Given the description of an element on the screen output the (x, y) to click on. 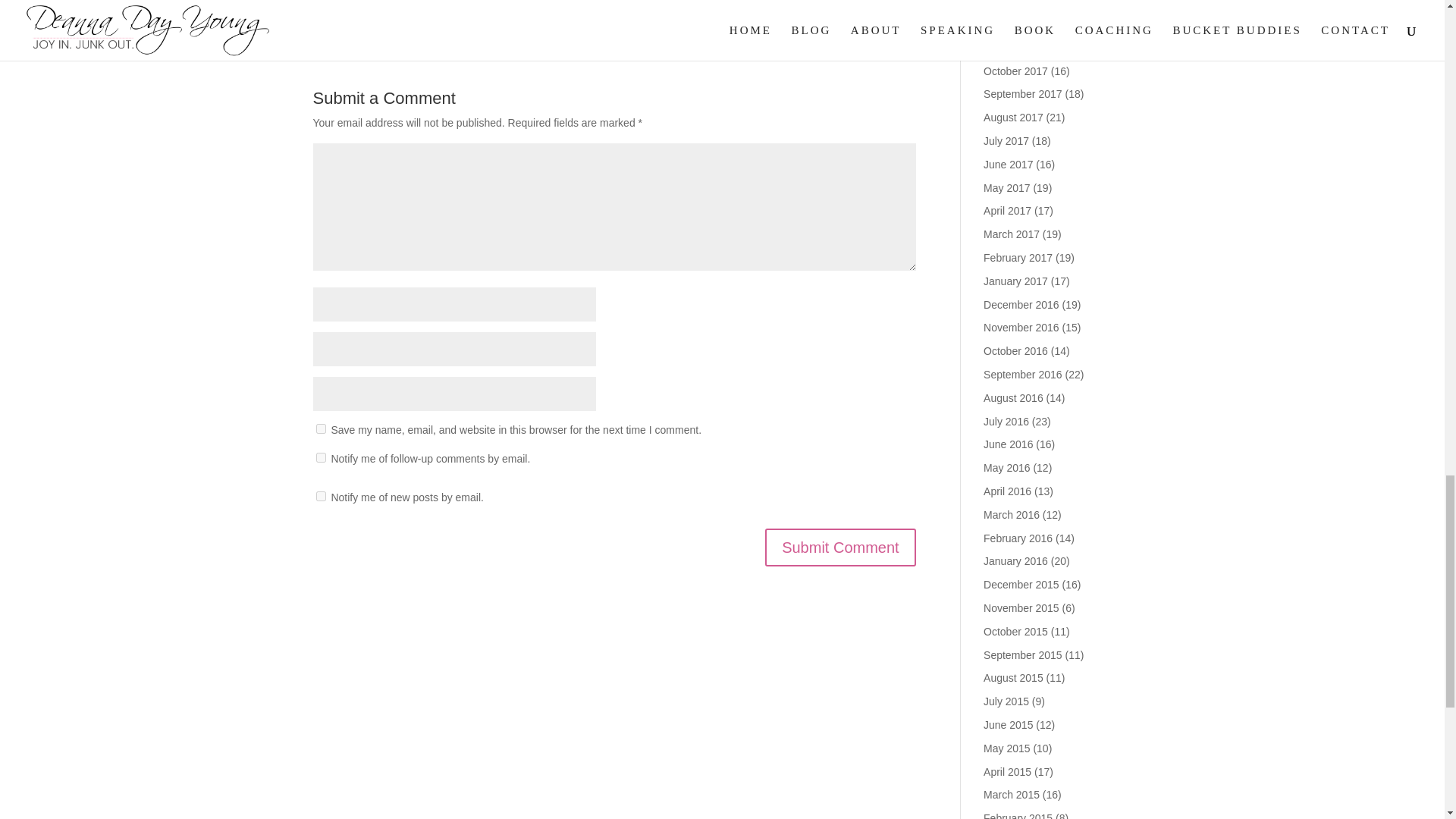
subscribe (319, 496)
Submit Comment (840, 547)
yes (319, 429)
Submit Comment (840, 547)
subscribe (319, 457)
